Given the description of an element on the screen output the (x, y) to click on. 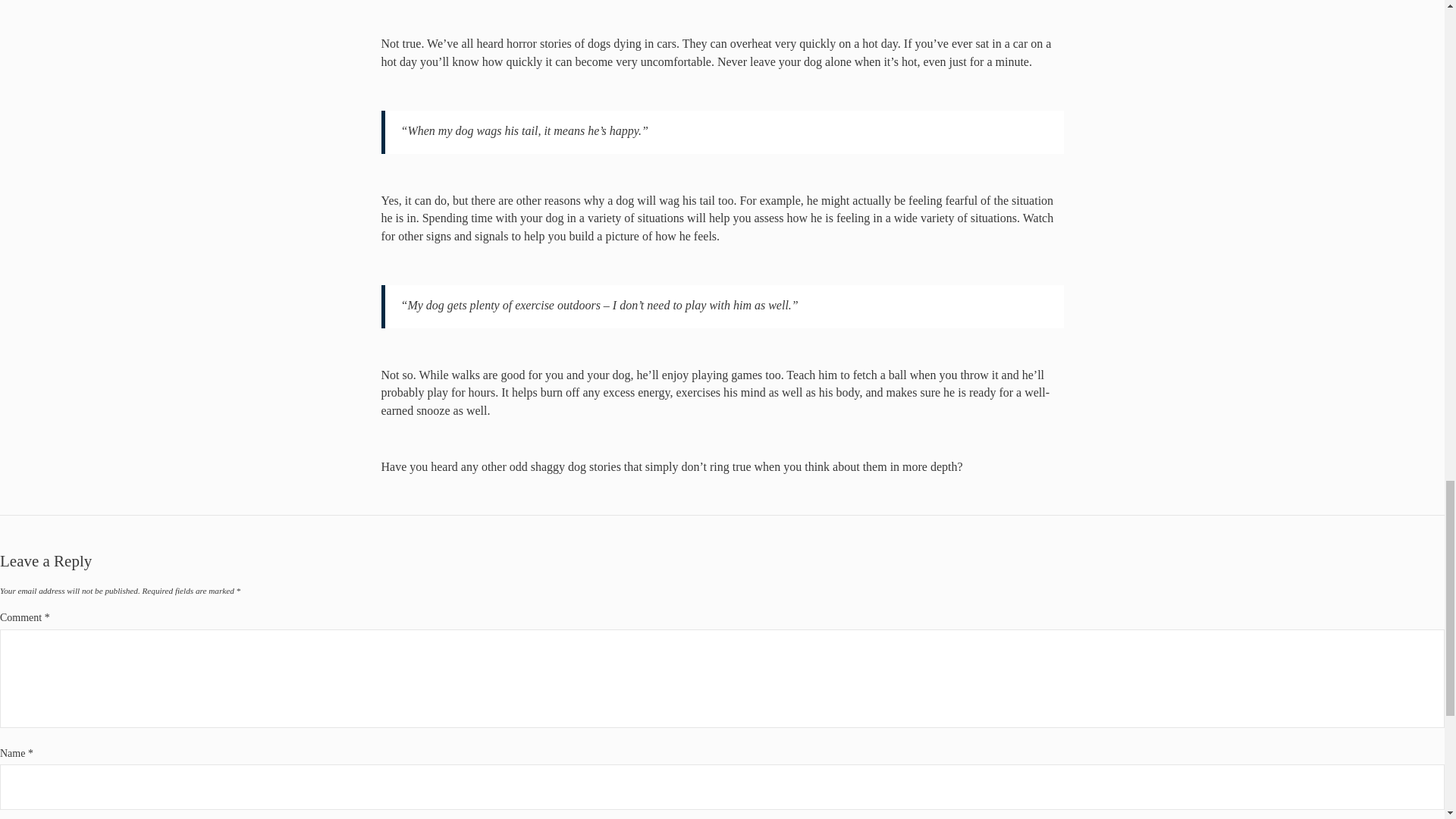
odd shaggy (536, 466)
